Given the description of an element on the screen output the (x, y) to click on. 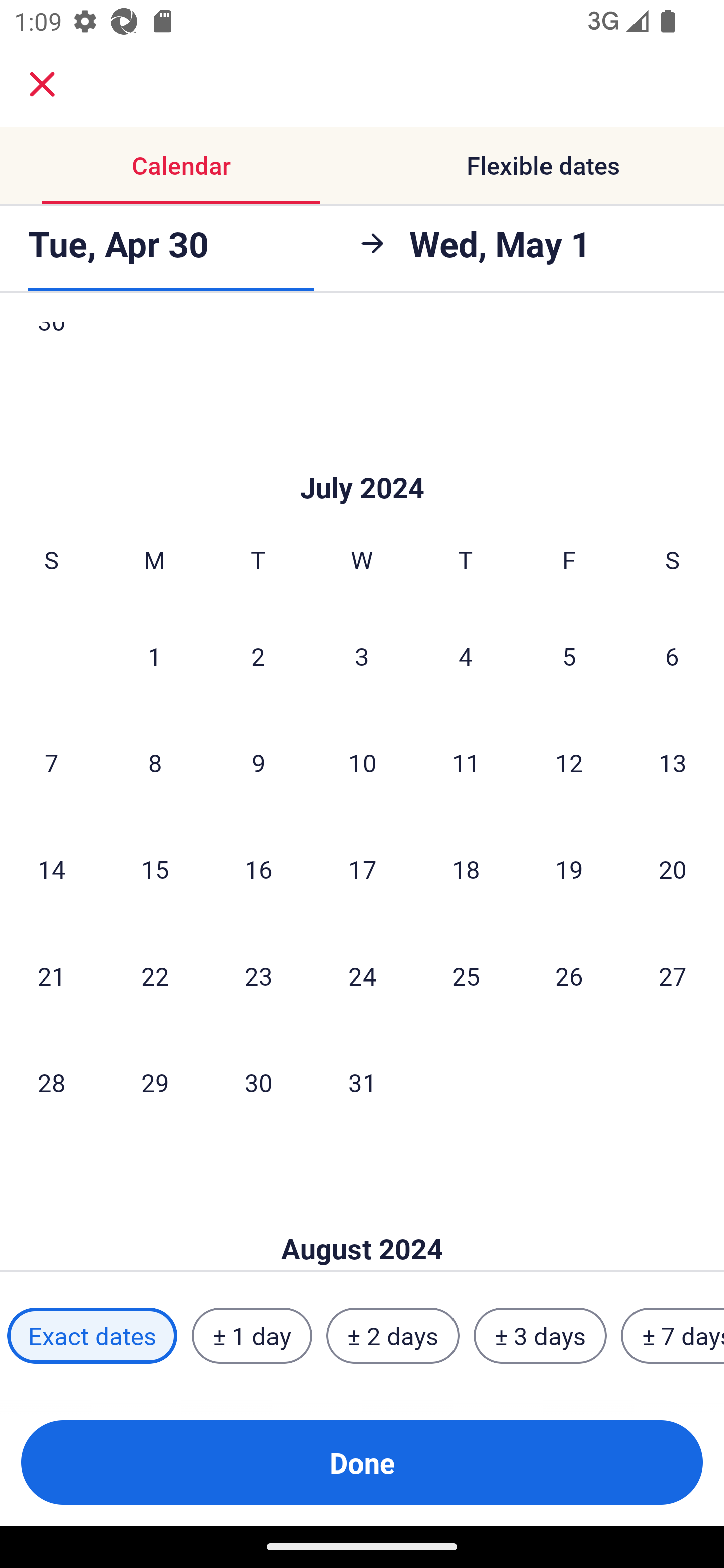
close. (42, 84)
Flexible dates (542, 164)
Skip to Done (362, 457)
1 Monday, July 1, 2024 (154, 656)
2 Tuesday, July 2, 2024 (257, 656)
3 Wednesday, July 3, 2024 (361, 656)
4 Thursday, July 4, 2024 (465, 656)
5 Friday, July 5, 2024 (568, 656)
6 Saturday, July 6, 2024 (672, 656)
7 Sunday, July 7, 2024 (51, 762)
8 Monday, July 8, 2024 (155, 762)
9 Tuesday, July 9, 2024 (258, 762)
10 Wednesday, July 10, 2024 (362, 762)
11 Thursday, July 11, 2024 (465, 762)
12 Friday, July 12, 2024 (569, 762)
13 Saturday, July 13, 2024 (672, 762)
14 Sunday, July 14, 2024 (51, 868)
15 Monday, July 15, 2024 (155, 868)
16 Tuesday, July 16, 2024 (258, 868)
17 Wednesday, July 17, 2024 (362, 868)
18 Thursday, July 18, 2024 (465, 868)
19 Friday, July 19, 2024 (569, 868)
20 Saturday, July 20, 2024 (672, 868)
21 Sunday, July 21, 2024 (51, 975)
22 Monday, July 22, 2024 (155, 975)
23 Tuesday, July 23, 2024 (258, 975)
24 Wednesday, July 24, 2024 (362, 975)
25 Thursday, July 25, 2024 (465, 975)
26 Friday, July 26, 2024 (569, 975)
27 Saturday, July 27, 2024 (672, 975)
28 Sunday, July 28, 2024 (51, 1081)
29 Monday, July 29, 2024 (155, 1081)
30 Tuesday, July 30, 2024 (258, 1081)
31 Wednesday, July 31, 2024 (362, 1081)
Skip to Done (362, 1218)
Exact dates (92, 1335)
± 1 day (251, 1335)
± 2 days (392, 1335)
± 3 days (539, 1335)
± 7 days (672, 1335)
Done (361, 1462)
